Given the description of an element on the screen output the (x, y) to click on. 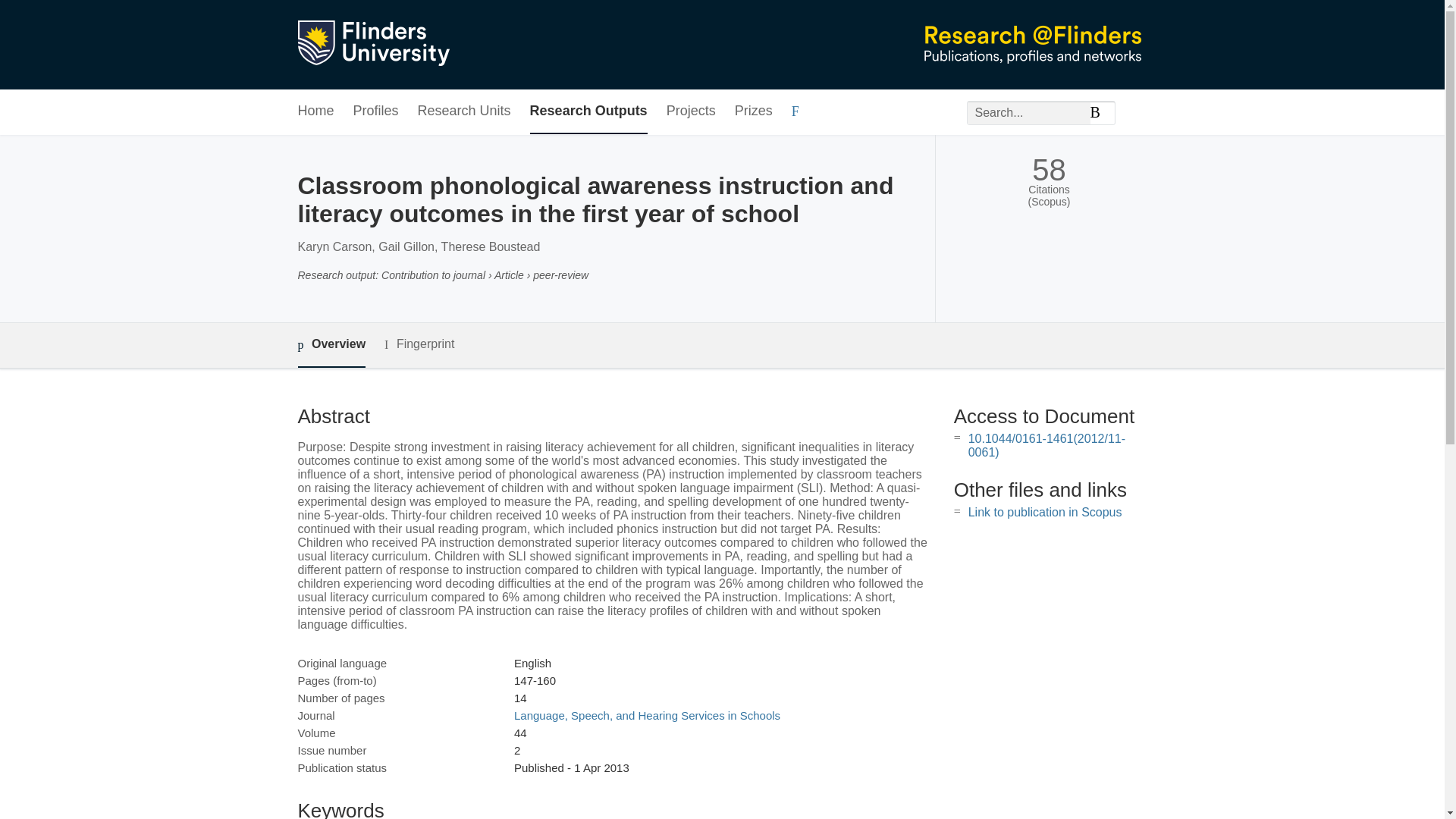
Language, Speech, and Hearing Services in Schools (646, 715)
Fingerprint (419, 344)
Profiles (375, 111)
Research Units (464, 111)
Link to publication in Scopus (1045, 512)
Projects (691, 111)
Research Outputs (588, 111)
Overview (331, 344)
